Given the description of an element on the screen output the (x, y) to click on. 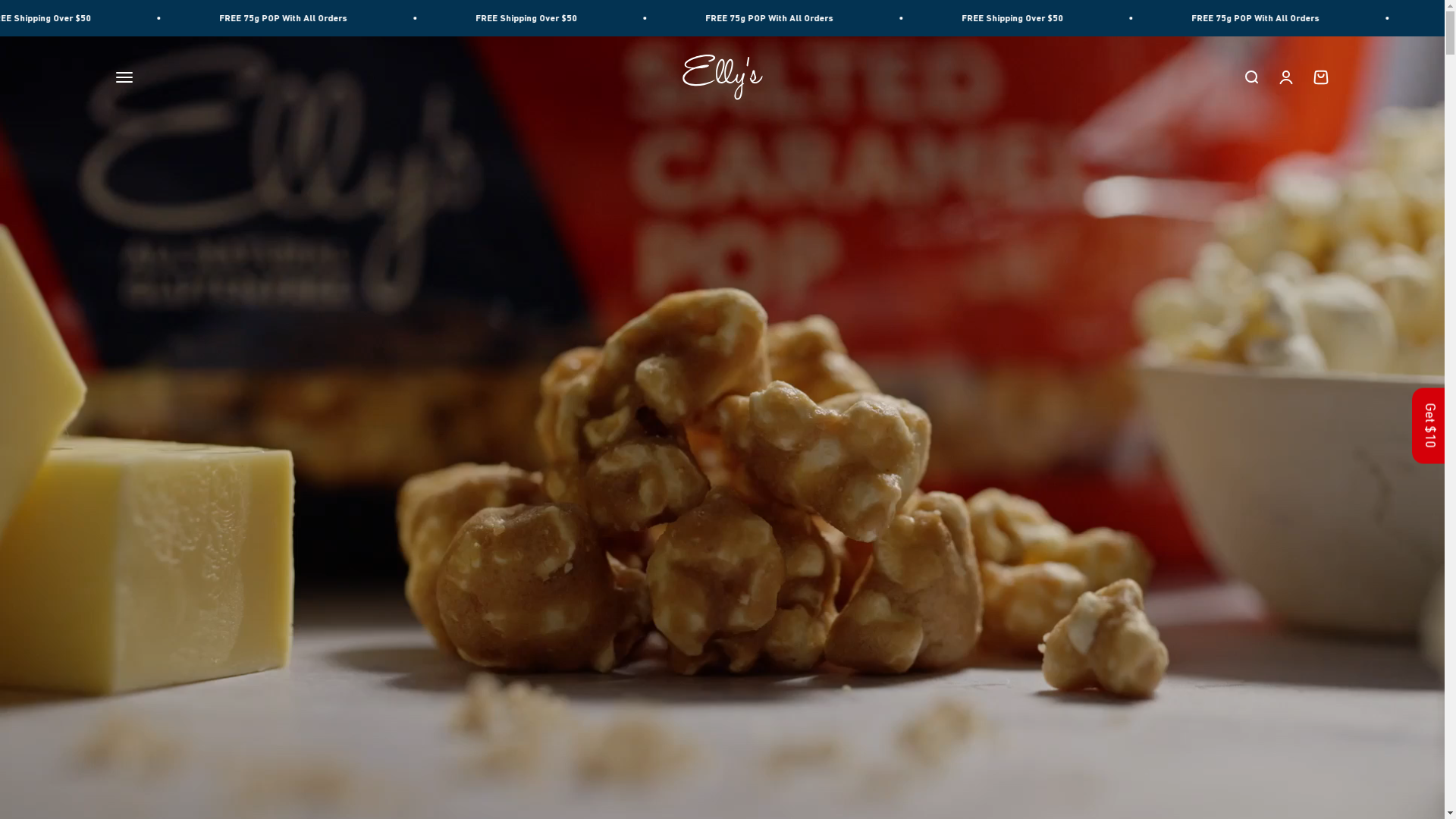
Open account page Element type: text (1285, 77)
Ellys Gourmet Confectionery Element type: text (722, 77)
Open cart
0 Element type: text (1319, 77)
Open navigation menu Element type: text (123, 77)
Open search Element type: text (1250, 77)
